Given the description of an element on the screen output the (x, y) to click on. 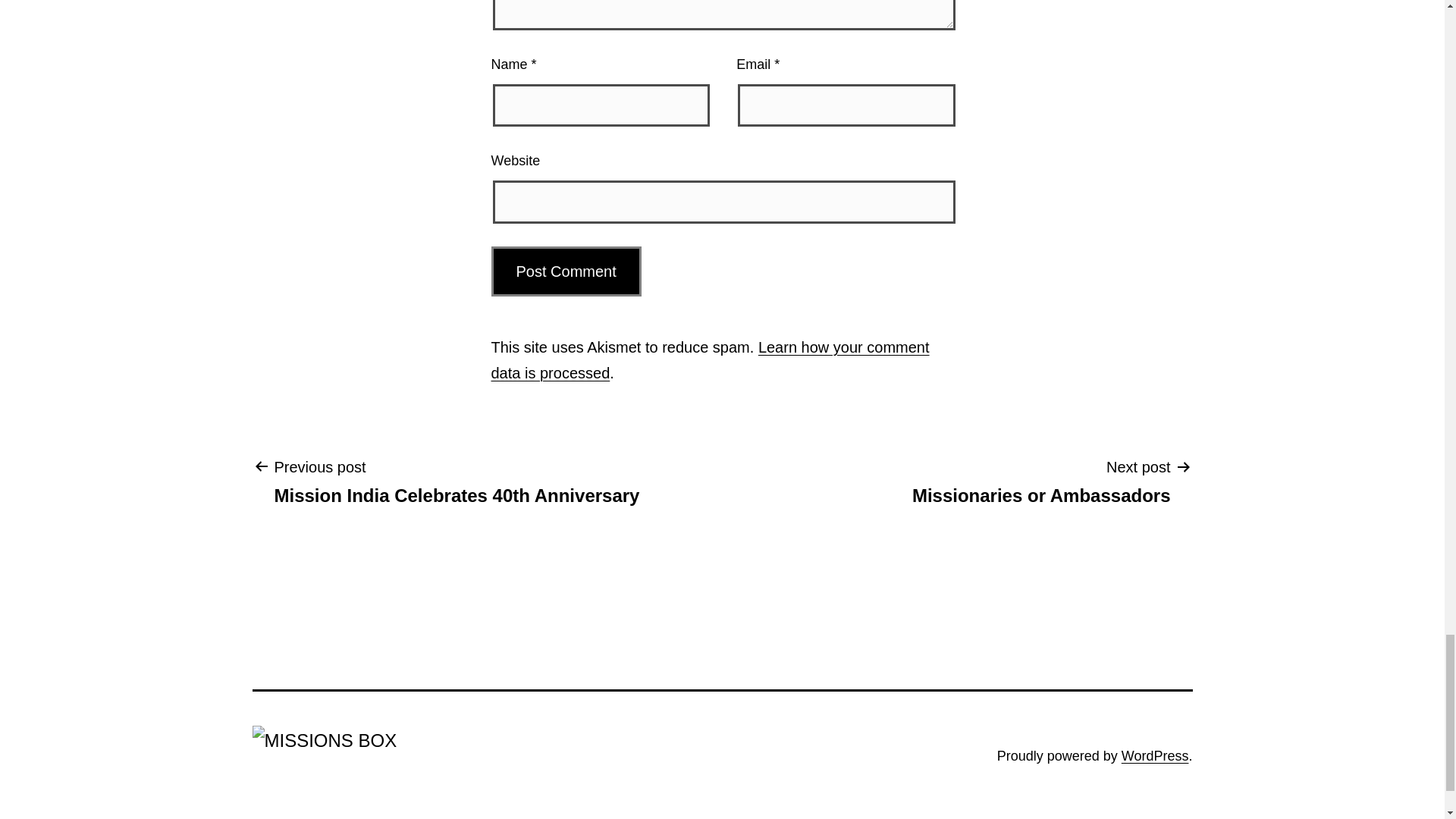
Post Comment (567, 271)
Post Comment (1040, 480)
Learn how your comment data is processed (567, 271)
WordPress (456, 480)
